Given the description of an element on the screen output the (x, y) to click on. 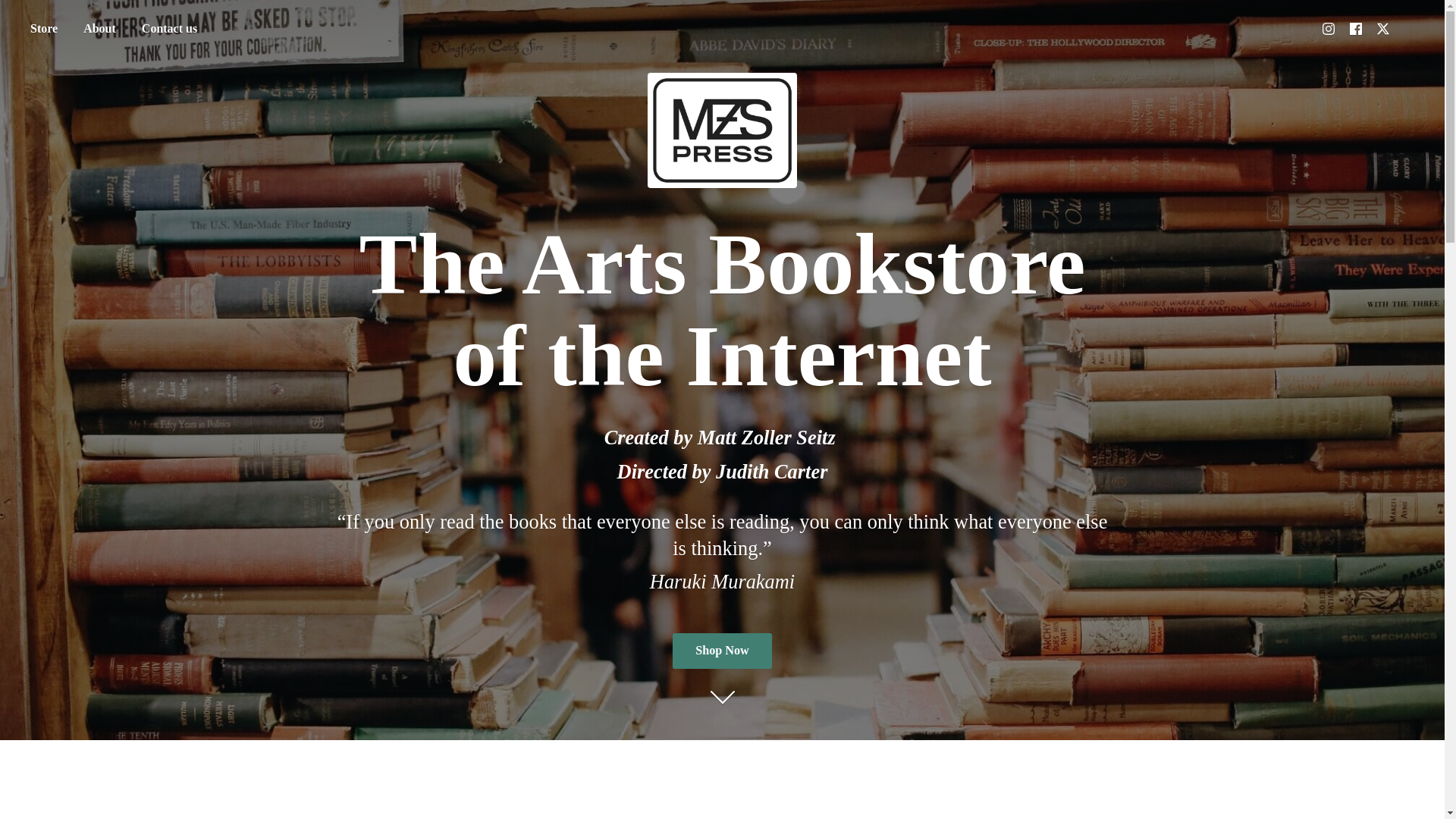
Contact us (169, 29)
Shop Now (721, 650)
About (99, 29)
Store (43, 29)
